Given the description of an element on the screen output the (x, y) to click on. 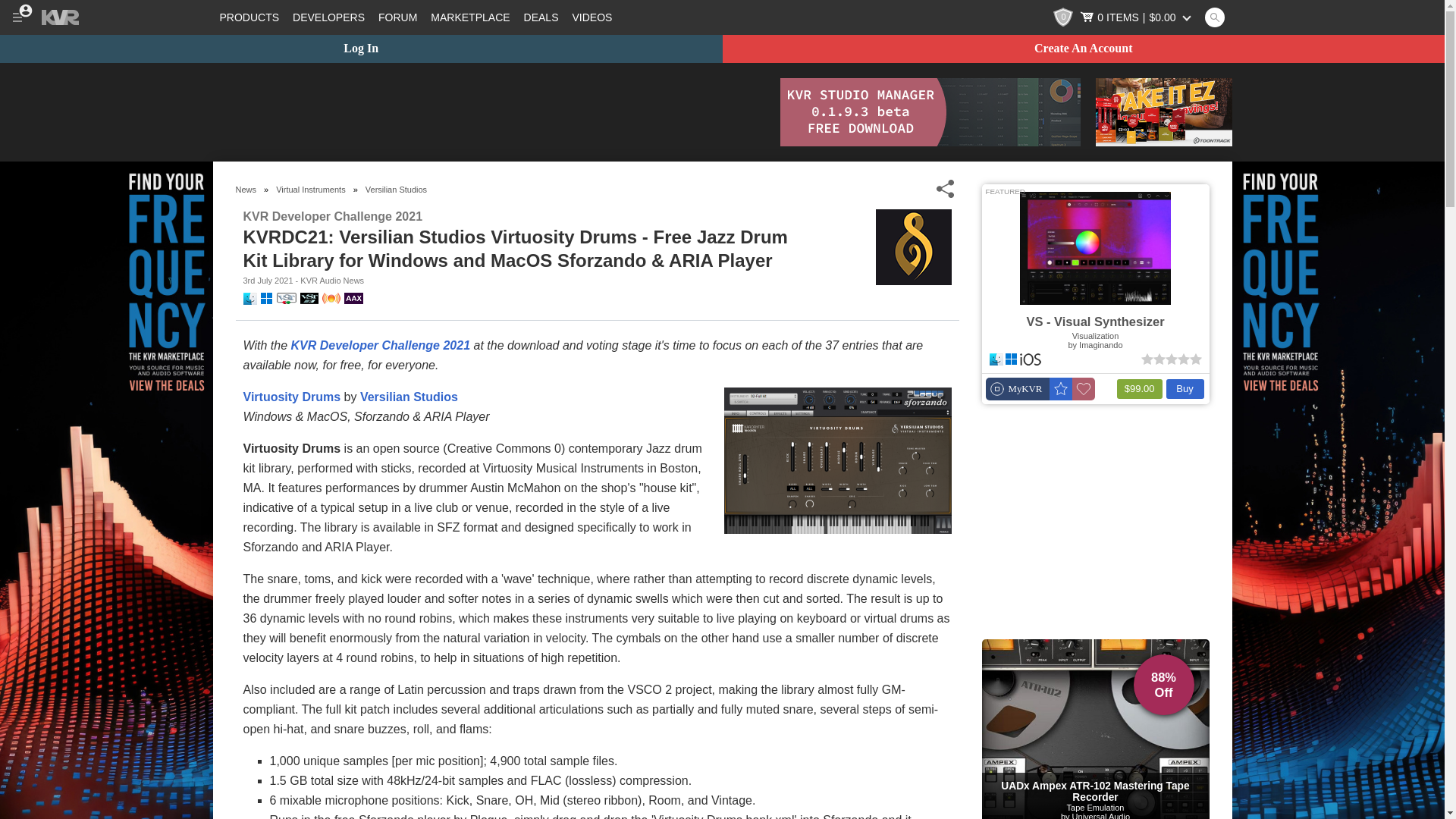
Toontrack - Take-It-EZ (1162, 111)
3rd party ad content (488, 111)
Share This (945, 189)
Posts by KVR Audio News (331, 280)
Cart (1136, 17)
